Given the description of an element on the screen output the (x, y) to click on. 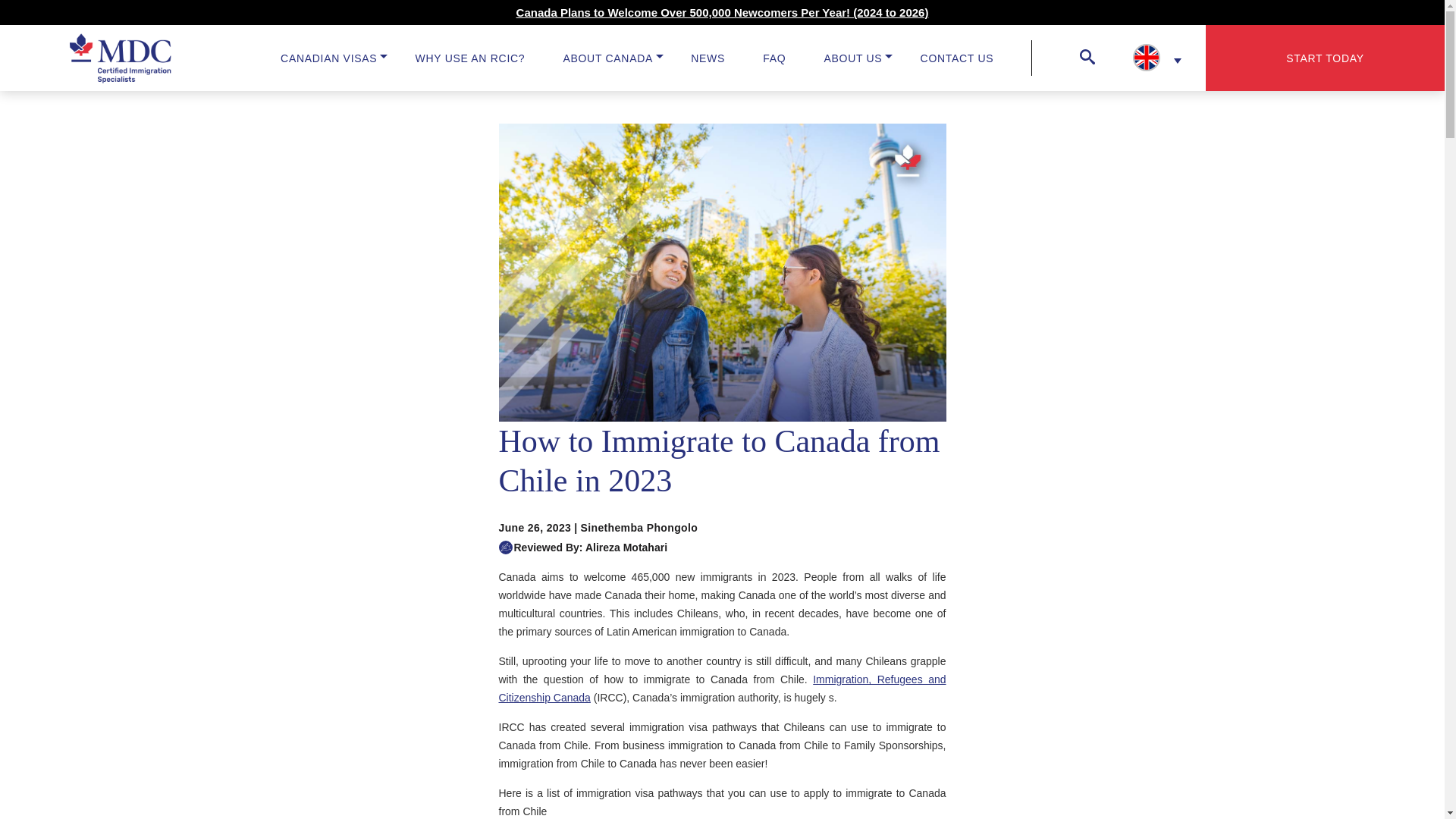
WHY USE AN RCIC? (469, 57)
CANADIAN VISAS (329, 57)
CANADIAN VISAS (329, 57)
ABOUT CANADA (607, 57)
home page (75, 57)
ABOUT CANADA (607, 57)
Learn More (722, 11)
logo (120, 58)
WHY USE AN RCIC? (469, 57)
